Given the description of an element on the screen output the (x, y) to click on. 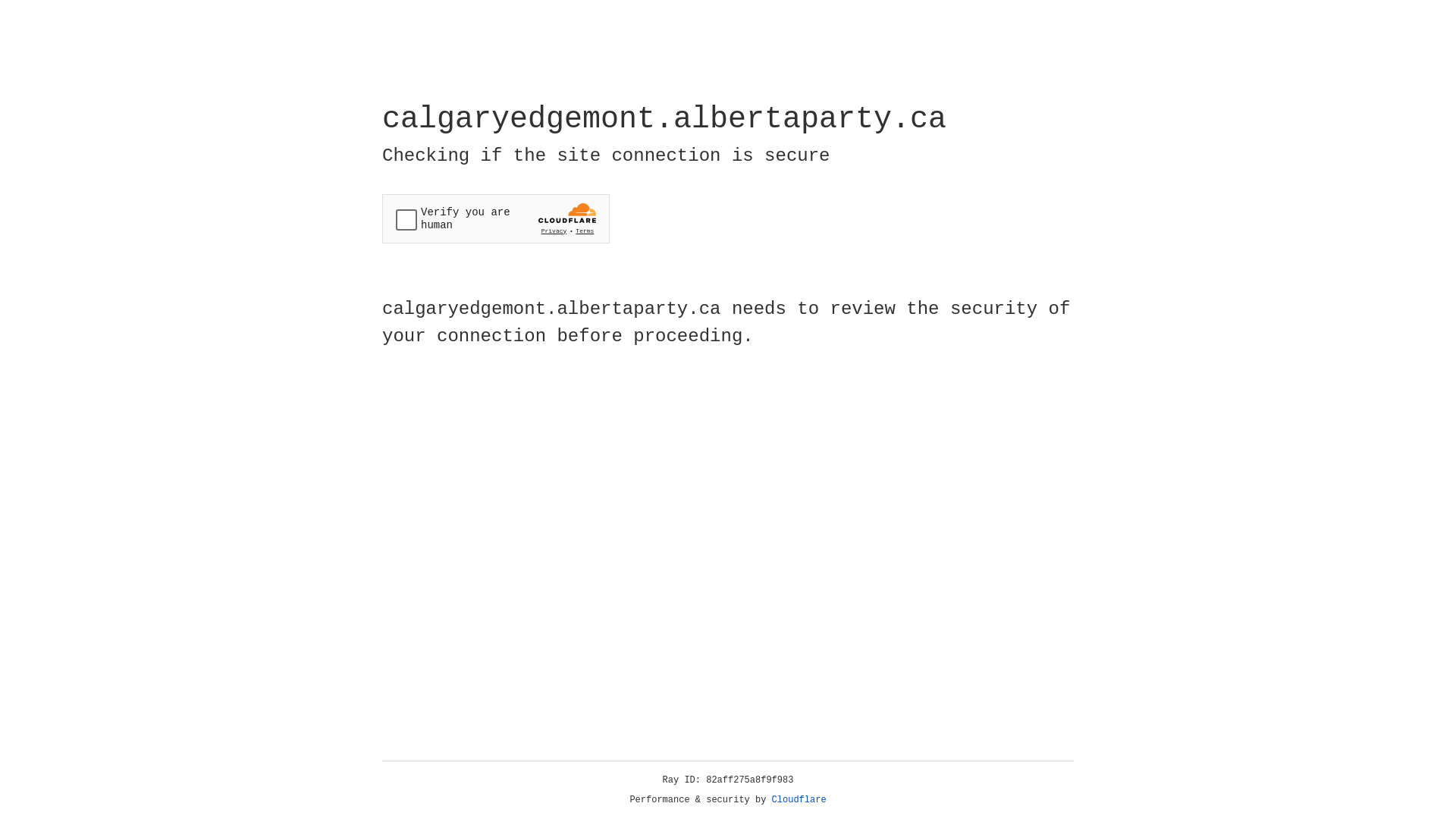
Cloudflare Element type: text (798, 799)
Widget containing a Cloudflare security challenge Element type: hover (495, 218)
